Given the description of an element on the screen output the (x, y) to click on. 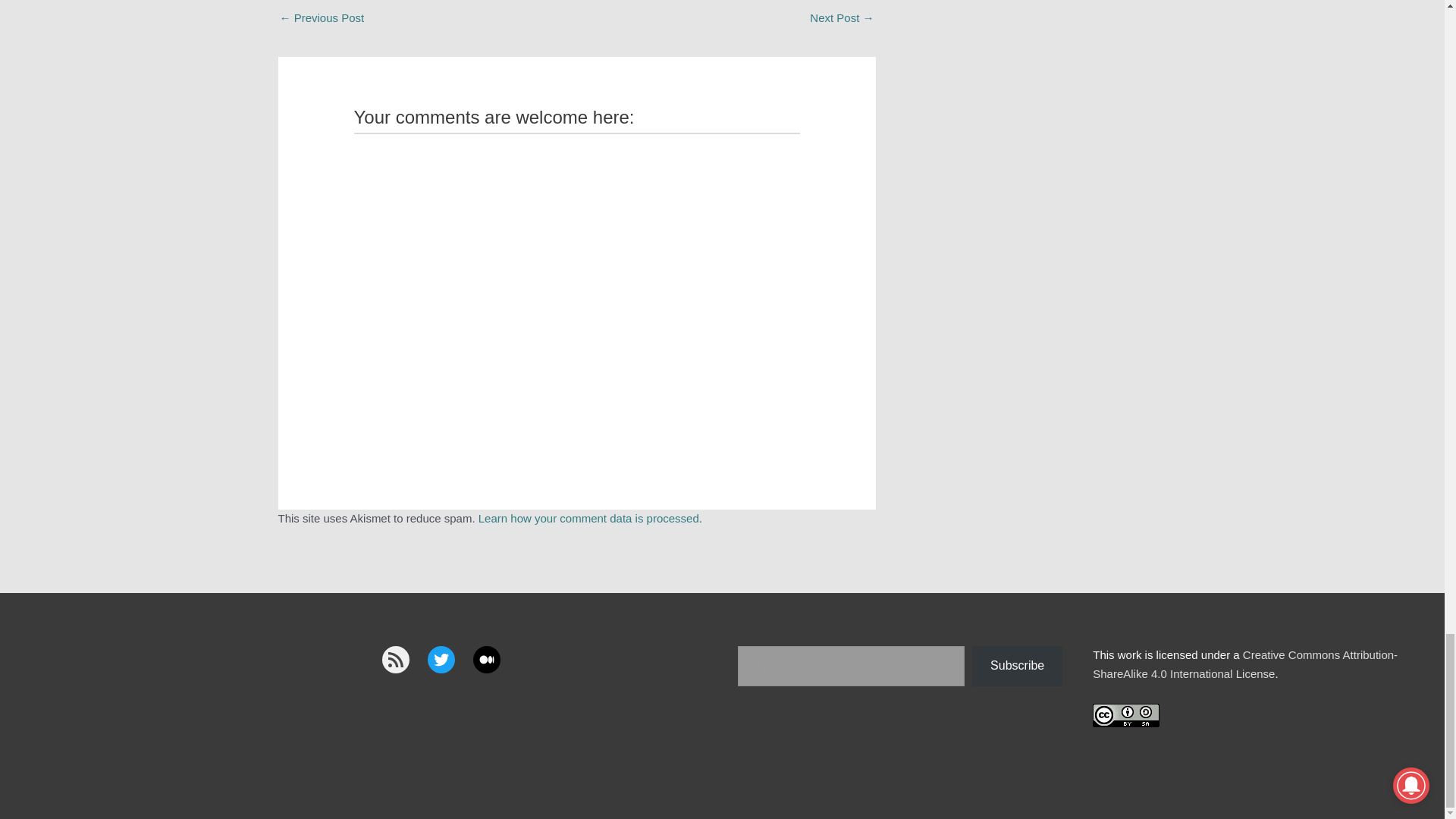
Corporate Raider, Carl Icahn is not entitled to Apple's cash (841, 18)
